Given the description of an element on the screen output the (x, y) to click on. 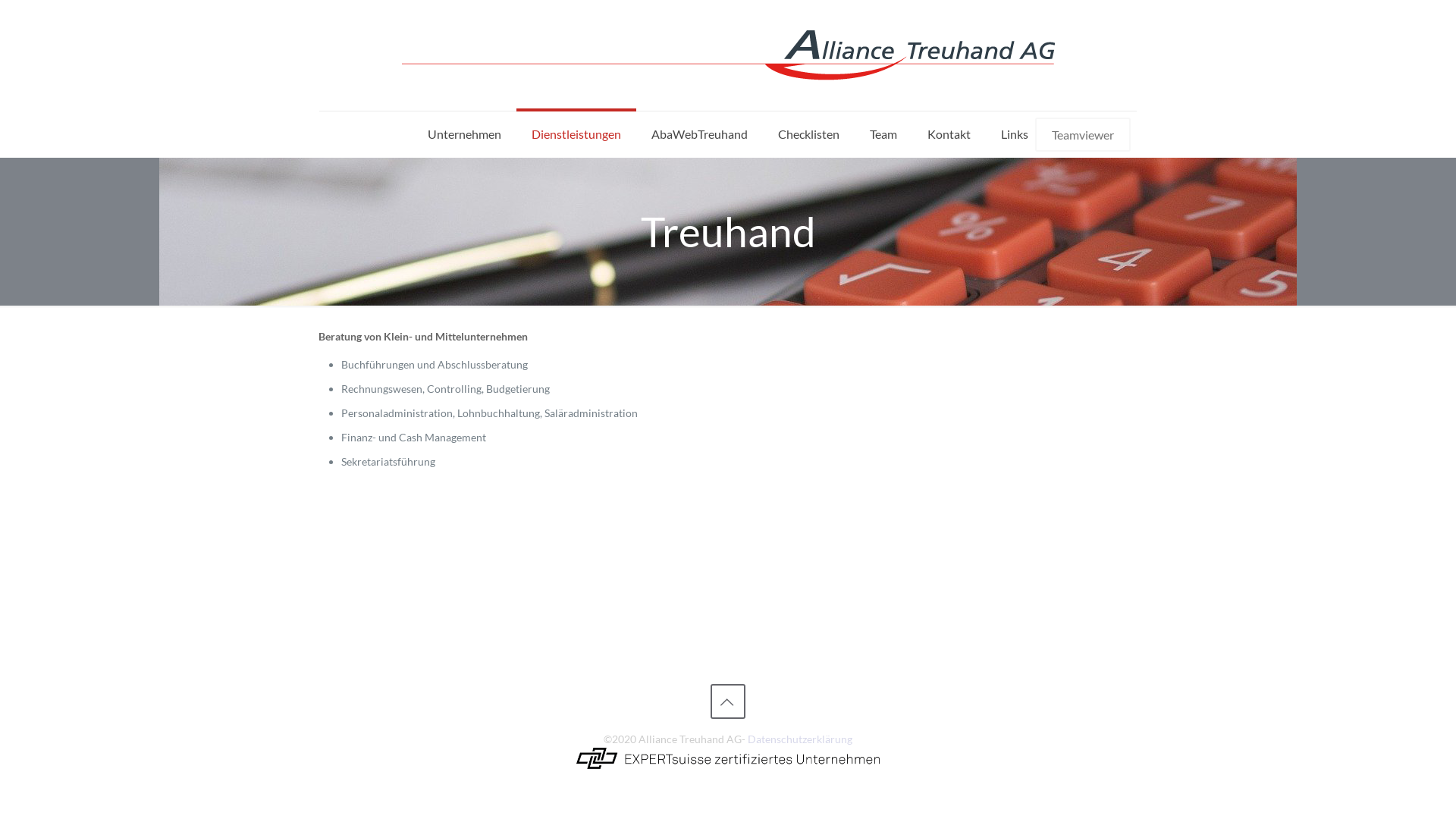
Dienstleistungen Element type: text (576, 133)
Checklisten Element type: text (808, 133)
Kontakt Element type: text (948, 133)
Teamviewer Element type: text (1082, 133)
AbaWebTreuhand Element type: text (699, 133)
Unternehmen Element type: text (464, 133)
Links Element type: text (1014, 133)
Alliance Treuhand AG Element type: hover (727, 55)
Team Element type: text (883, 133)
